Given the description of an element on the screen output the (x, y) to click on. 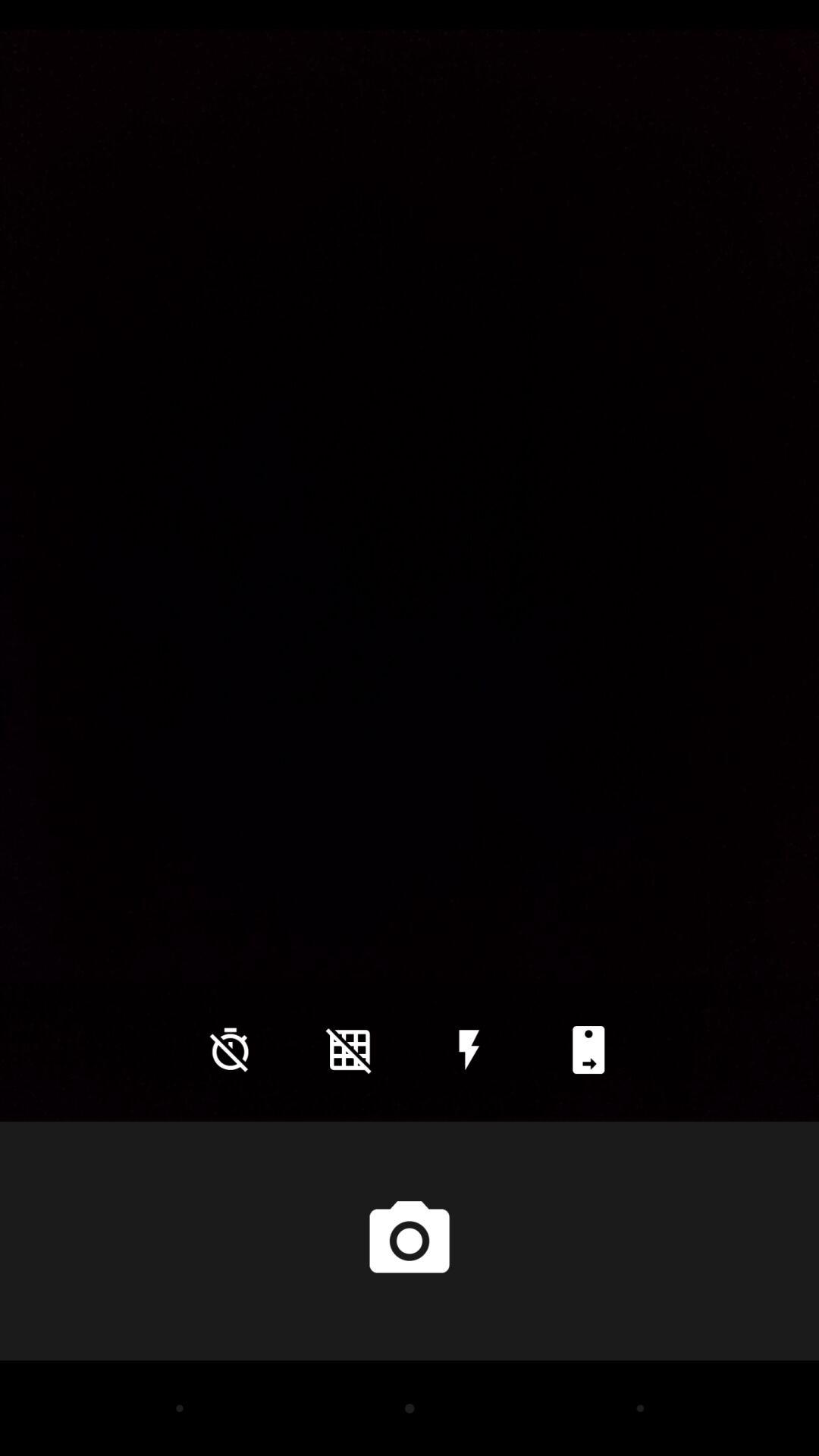
choose icon at the bottom left corner (230, 1049)
